Given the description of an element on the screen output the (x, y) to click on. 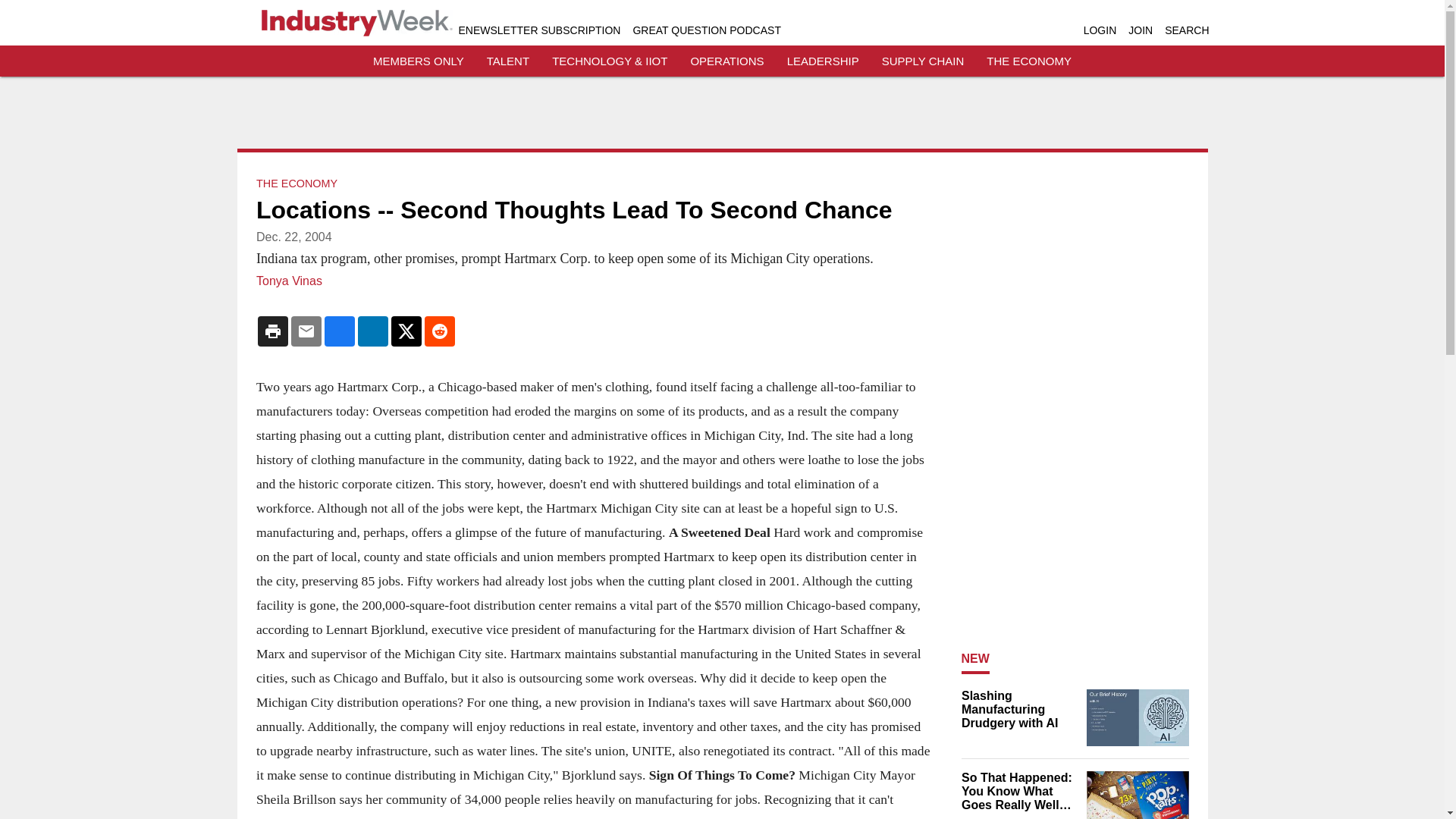
LOGIN (1099, 30)
ENEWSLETTER SUBSCRIPTION (539, 30)
JOIN (1140, 30)
SEARCH (1186, 30)
LEADERSHIP (823, 60)
MEMBERS ONLY (418, 60)
OPERATIONS (726, 60)
THE ECONOMY (296, 183)
THE ECONOMY (1029, 60)
TALENT (507, 60)
